Given the description of an element on the screen output the (x, y) to click on. 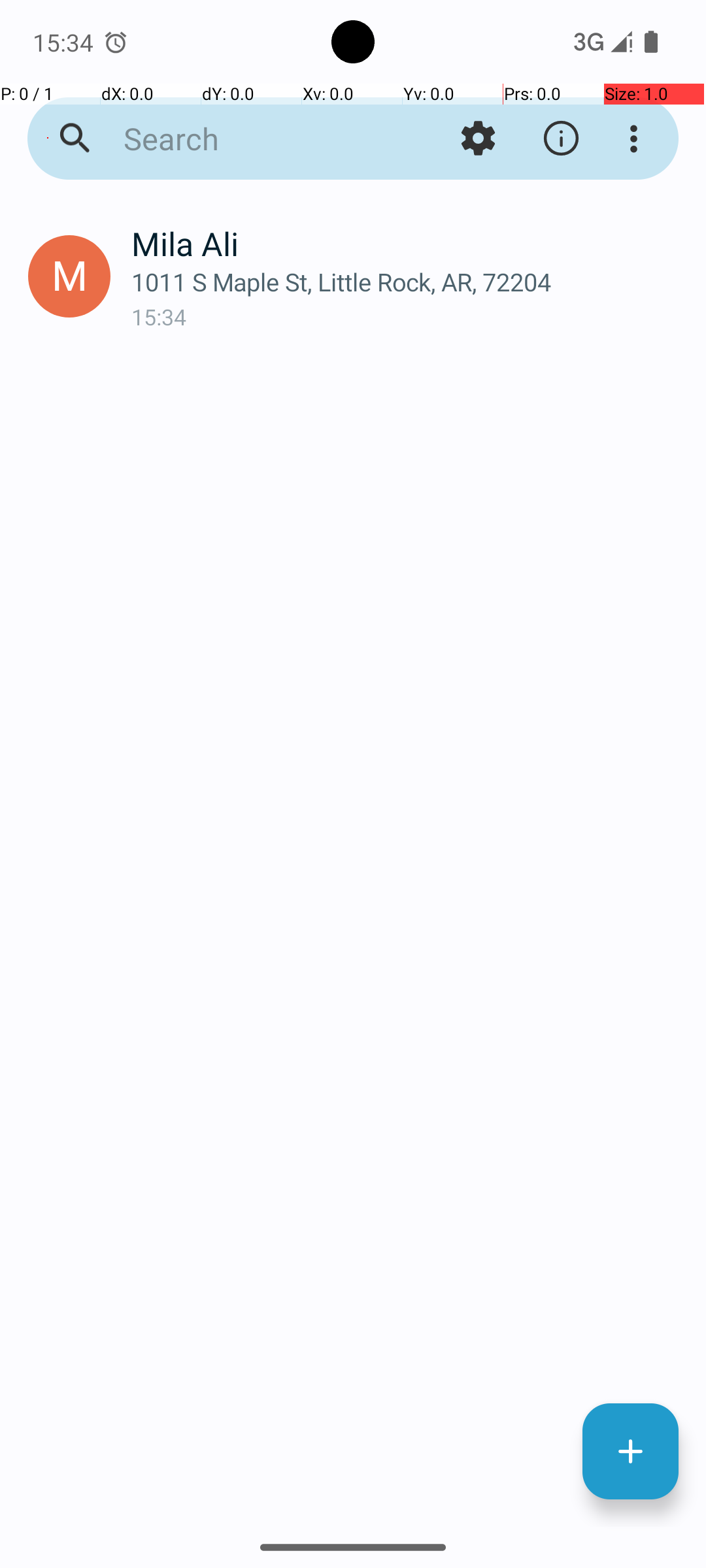
Mila Ali Element type: android.widget.TextView (408, 242)
1011 S Maple St, Little Rock, AR, 72204 Element type: android.widget.TextView (408, 281)
